Given the description of an element on the screen output the (x, y) to click on. 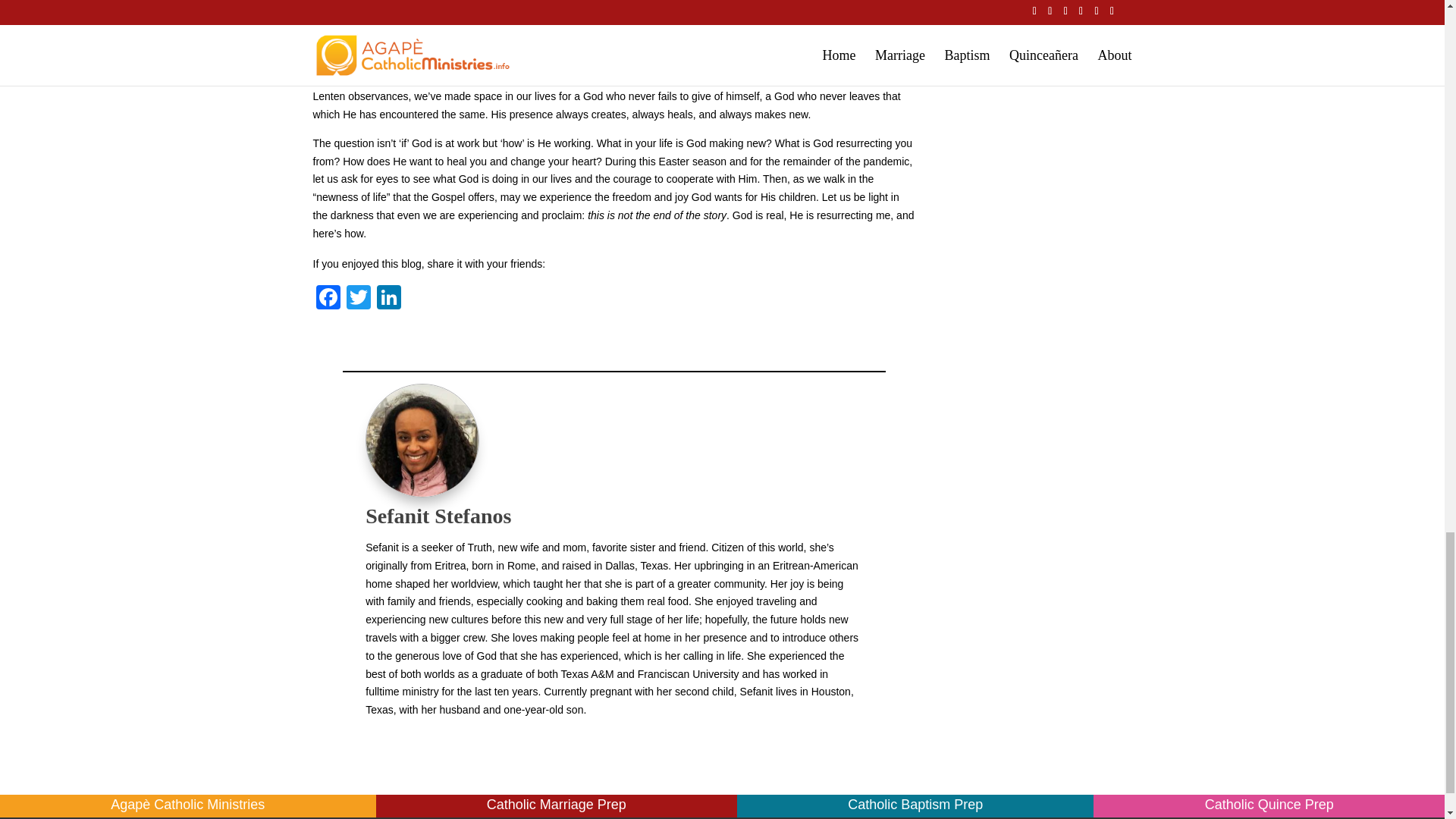
Twitter (357, 298)
Facebook (327, 298)
LinkedIn (387, 298)
LinkedIn (387, 298)
Twitter (357, 298)
Facebook (327, 298)
